Given the description of an element on the screen output the (x, y) to click on. 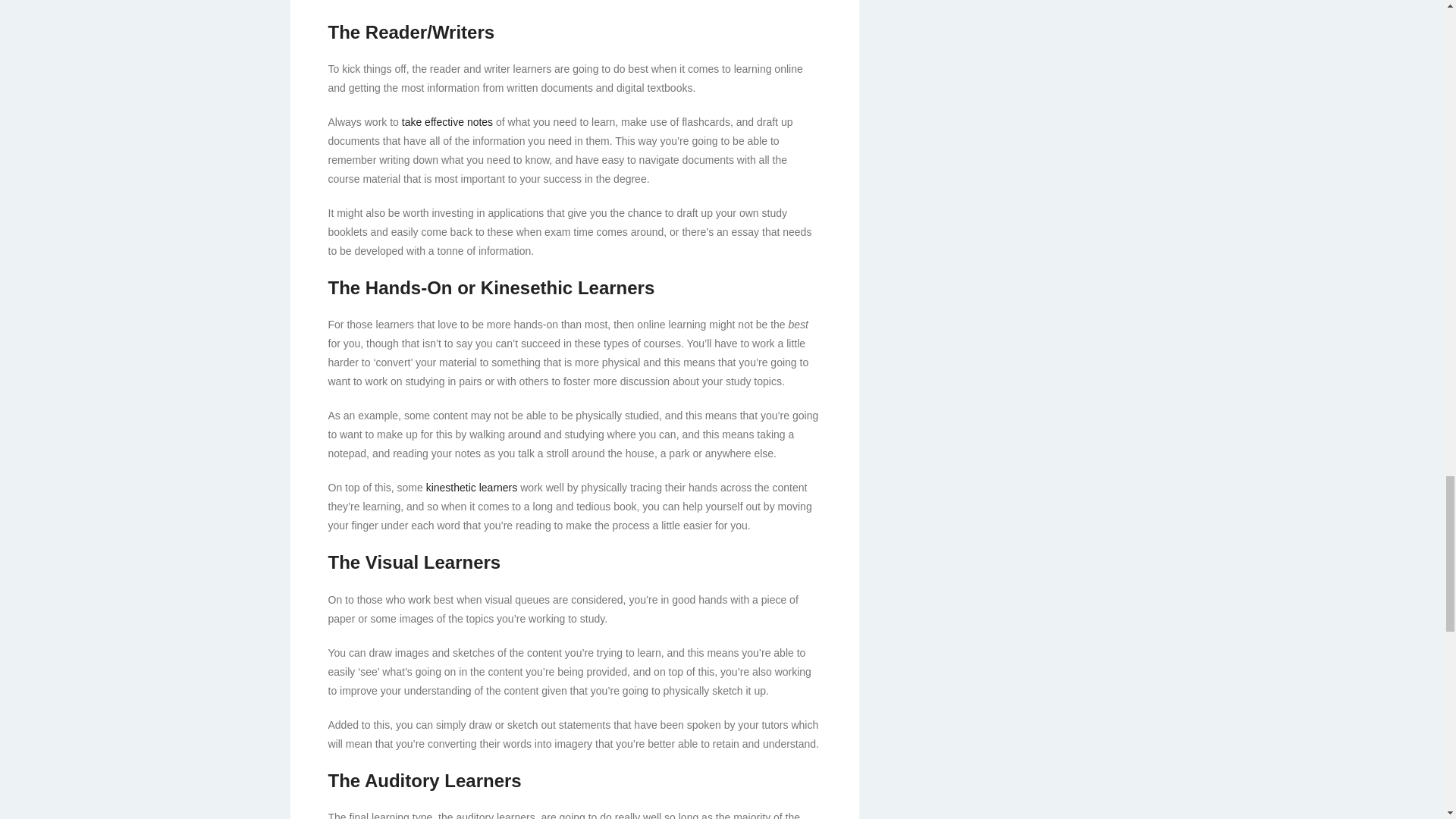
Kinesthetic Learning Style (472, 487)
kinesthetic learners (472, 487)
take effective notes (447, 121)
